Given the description of an element on the screen output the (x, y) to click on. 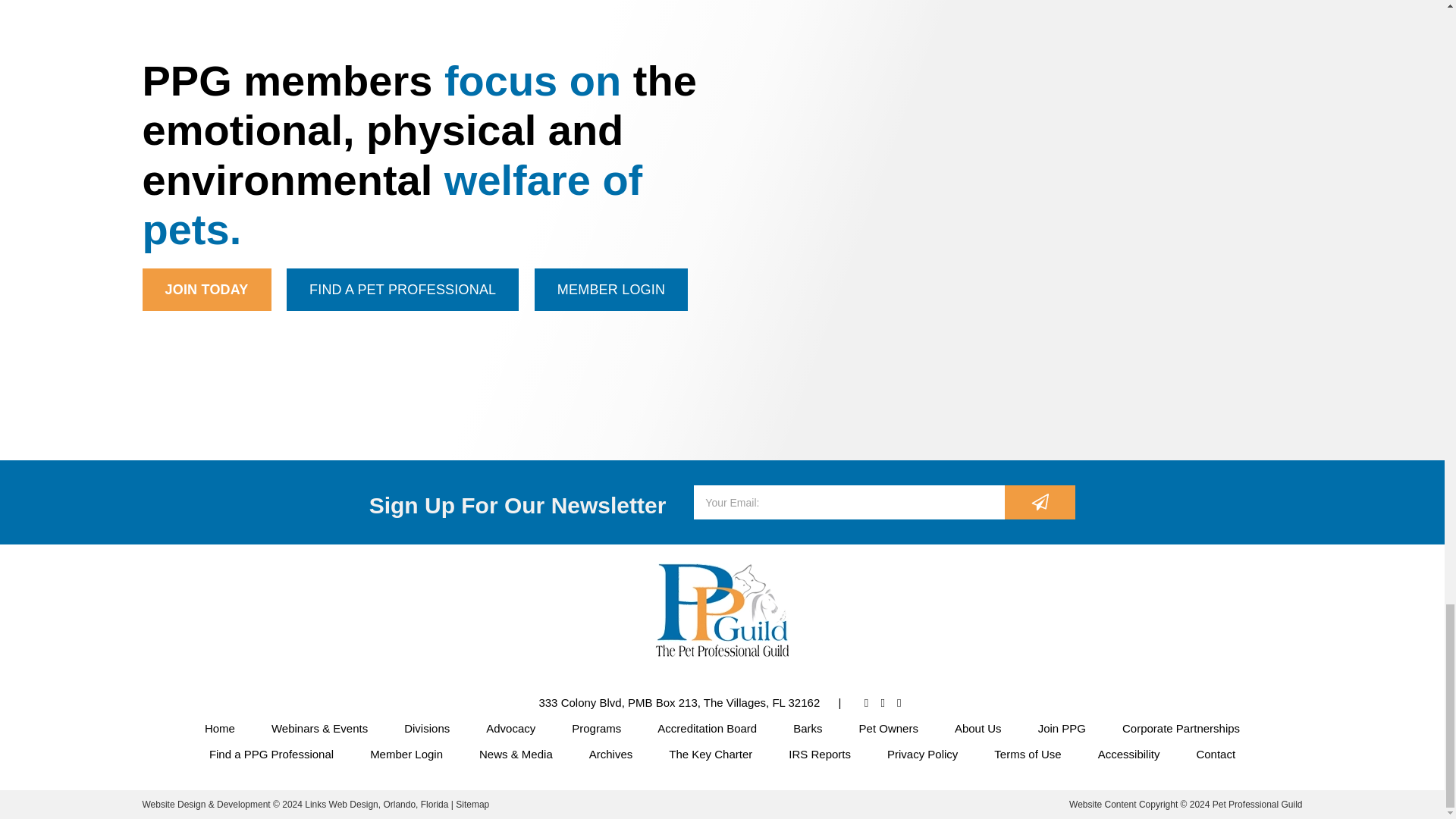
Links Web Design, Bangor, Maine (377, 804)
